Given the description of an element on the screen output the (x, y) to click on. 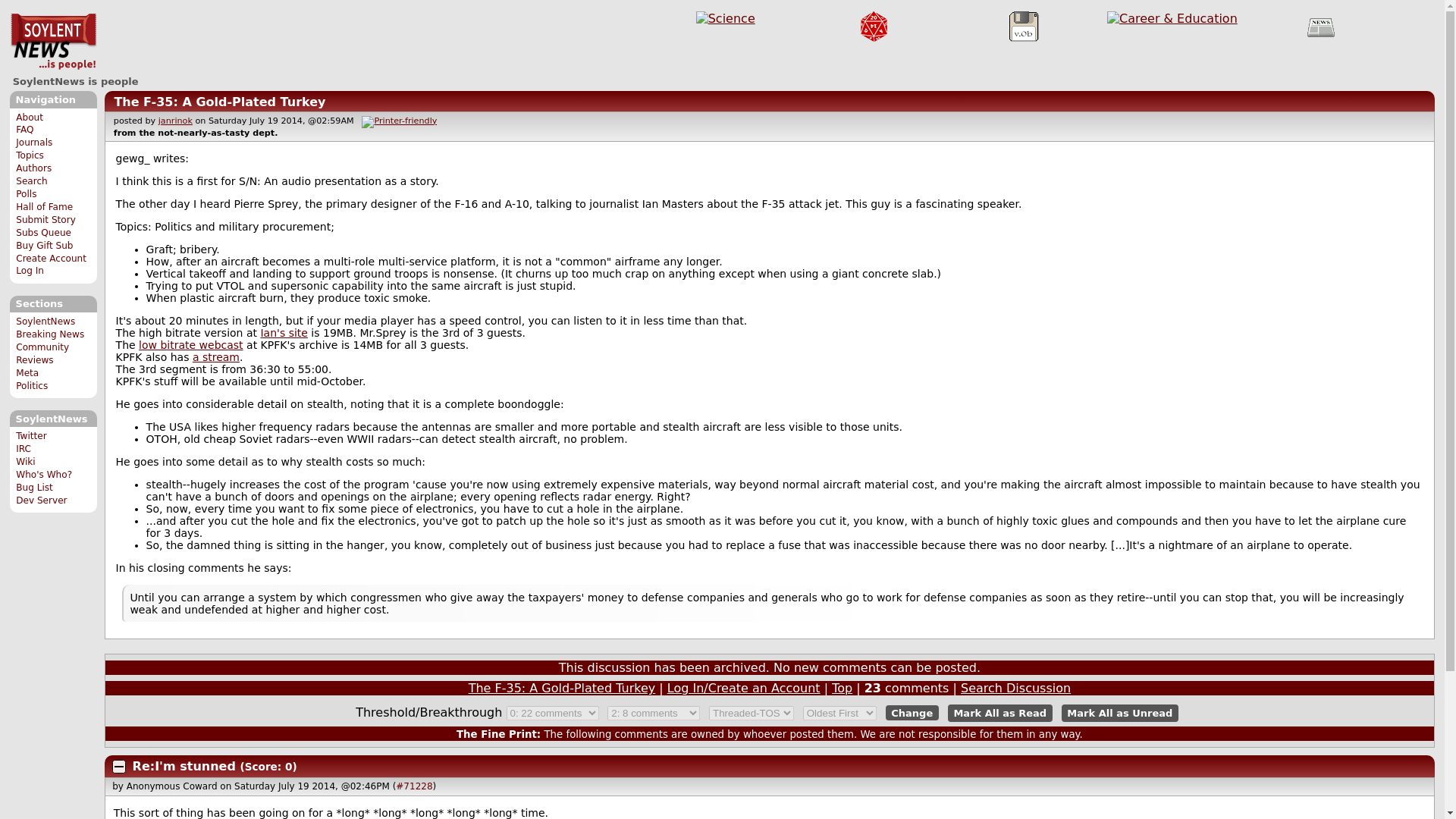
Science (725, 18)
Authors (33, 167)
a stream (216, 357)
Ian's site (283, 332)
Subs Queue (43, 232)
Politics (32, 385)
Log In (29, 270)
Hall of Fame (44, 206)
Who's Who? (43, 474)
News (1321, 26)
